Given the description of an element on the screen output the (x, y) to click on. 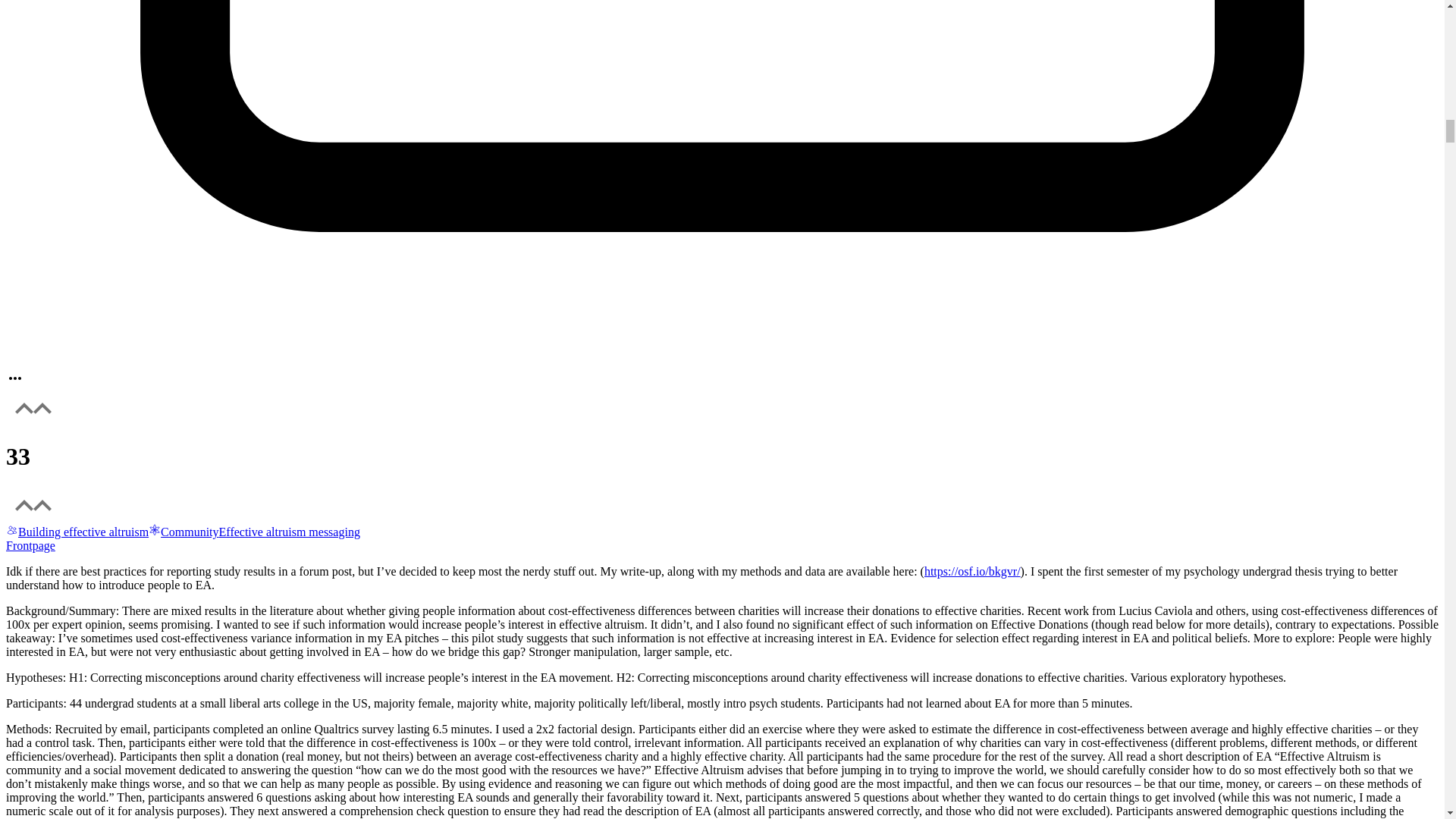
Community (183, 531)
Building effective altruism (76, 531)
Effective altruism messaging (289, 531)
